Given the description of an element on the screen output the (x, y) to click on. 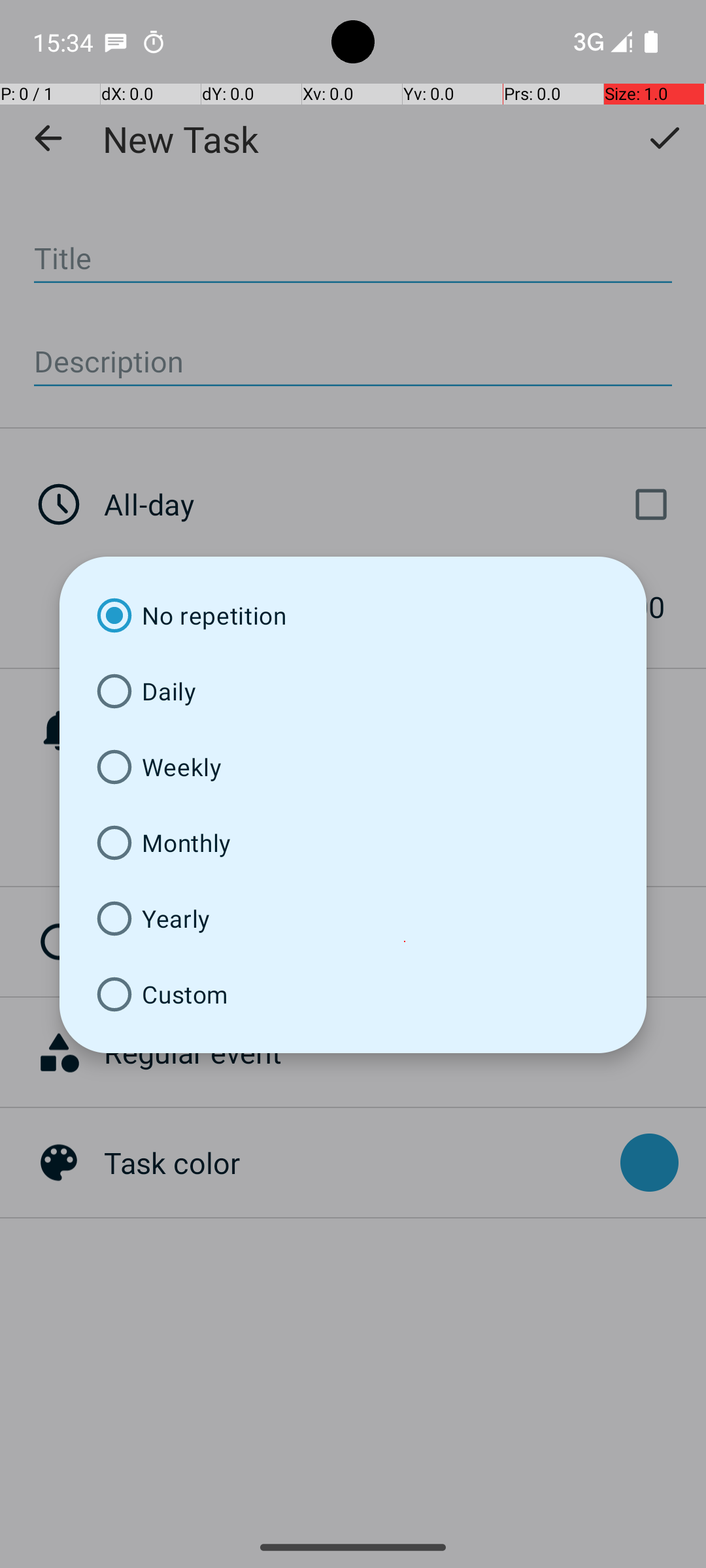
Yearly Element type: android.widget.RadioButton (352, 918)
